Given the description of an element on the screen output the (x, y) to click on. 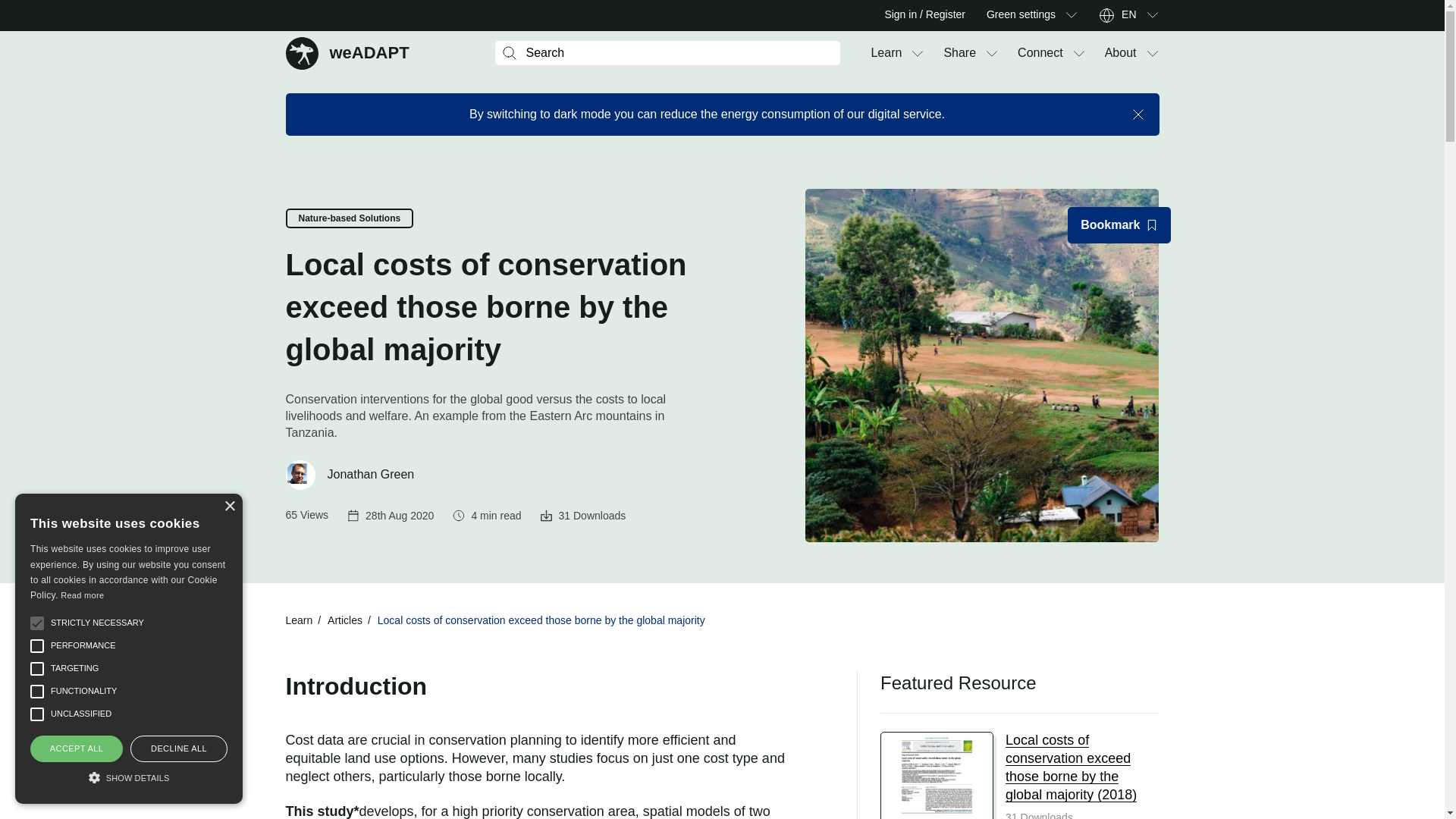
Translate Submenu (1151, 14)
Share Submenu (991, 53)
About (1121, 53)
Submenu (1071, 14)
Learn (885, 53)
Submenu (1078, 53)
Submenu (347, 52)
Connect (917, 53)
Share (1039, 53)
EN (959, 53)
About Submenu (1128, 14)
Green settings (1151, 53)
